Given the description of an element on the screen output the (x, y) to click on. 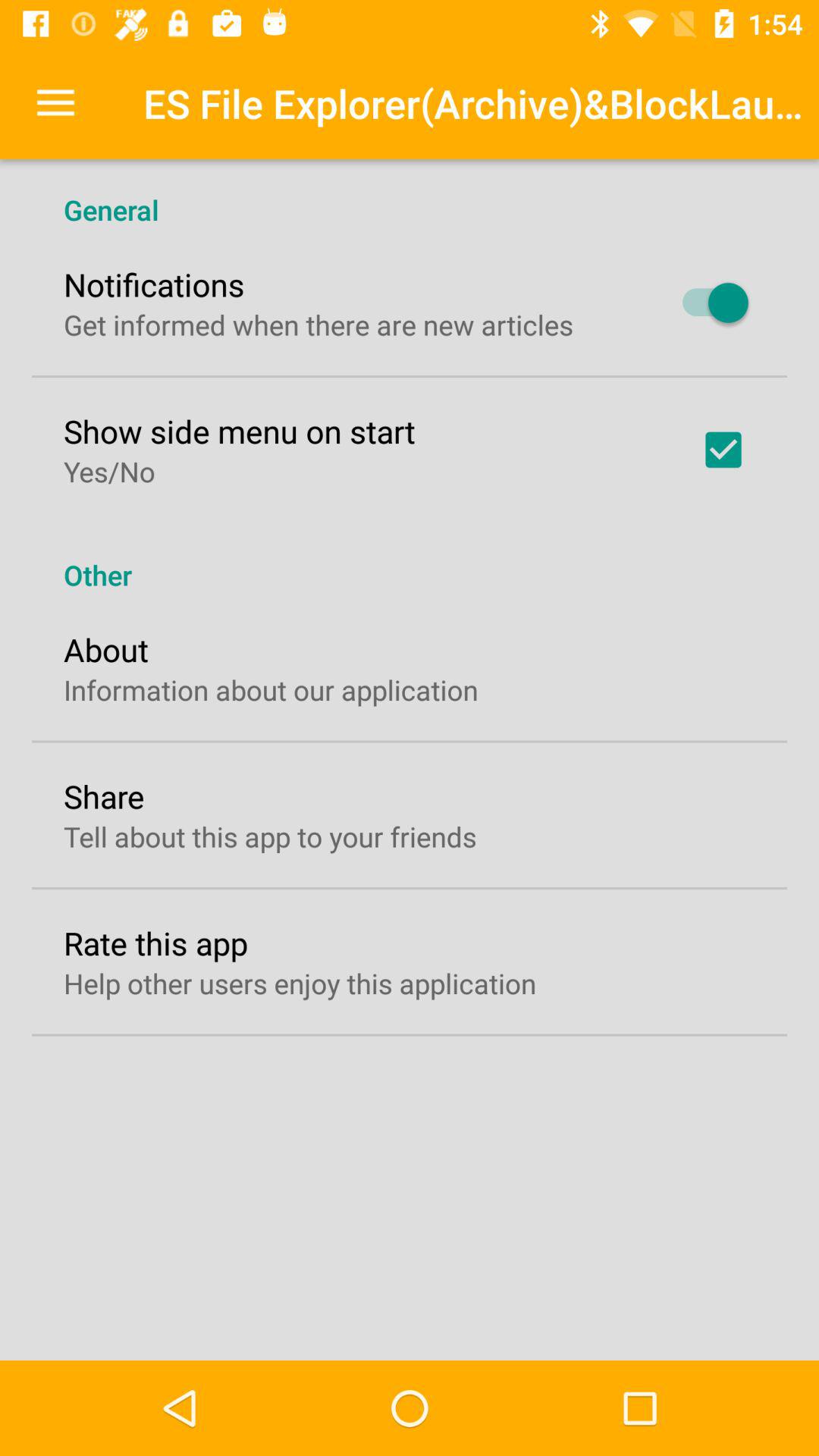
press item next to es file explorer (55, 103)
